Given the description of an element on the screen output the (x, y) to click on. 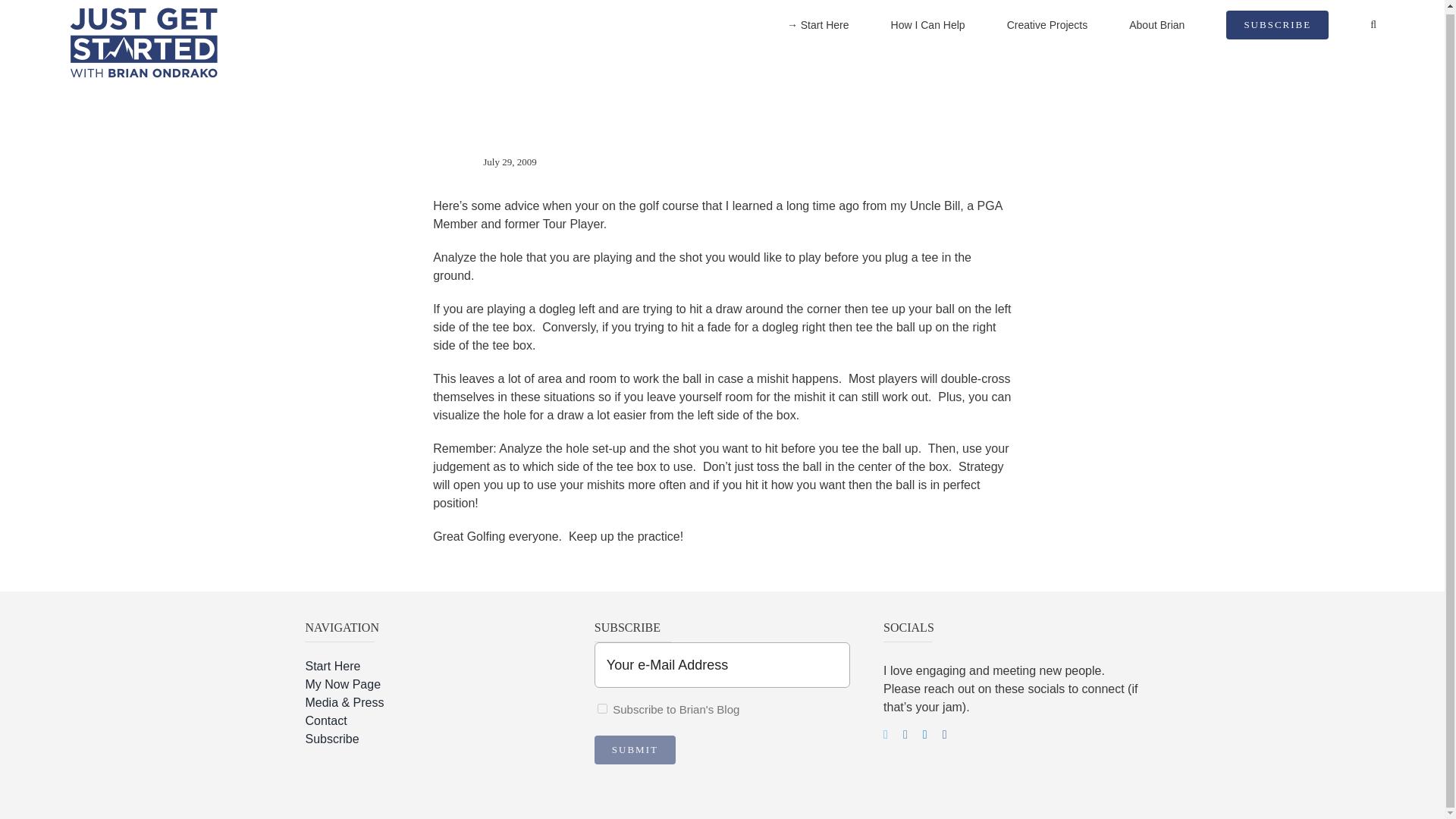
How I Can Help (928, 26)
About Brian (1157, 26)
Start Here (432, 666)
Subscribe to Brian's Blog (601, 708)
Creative Projects (1047, 26)
Submit (634, 749)
SUBSCRIBE (1276, 26)
